Given the description of an element on the screen output the (x, y) to click on. 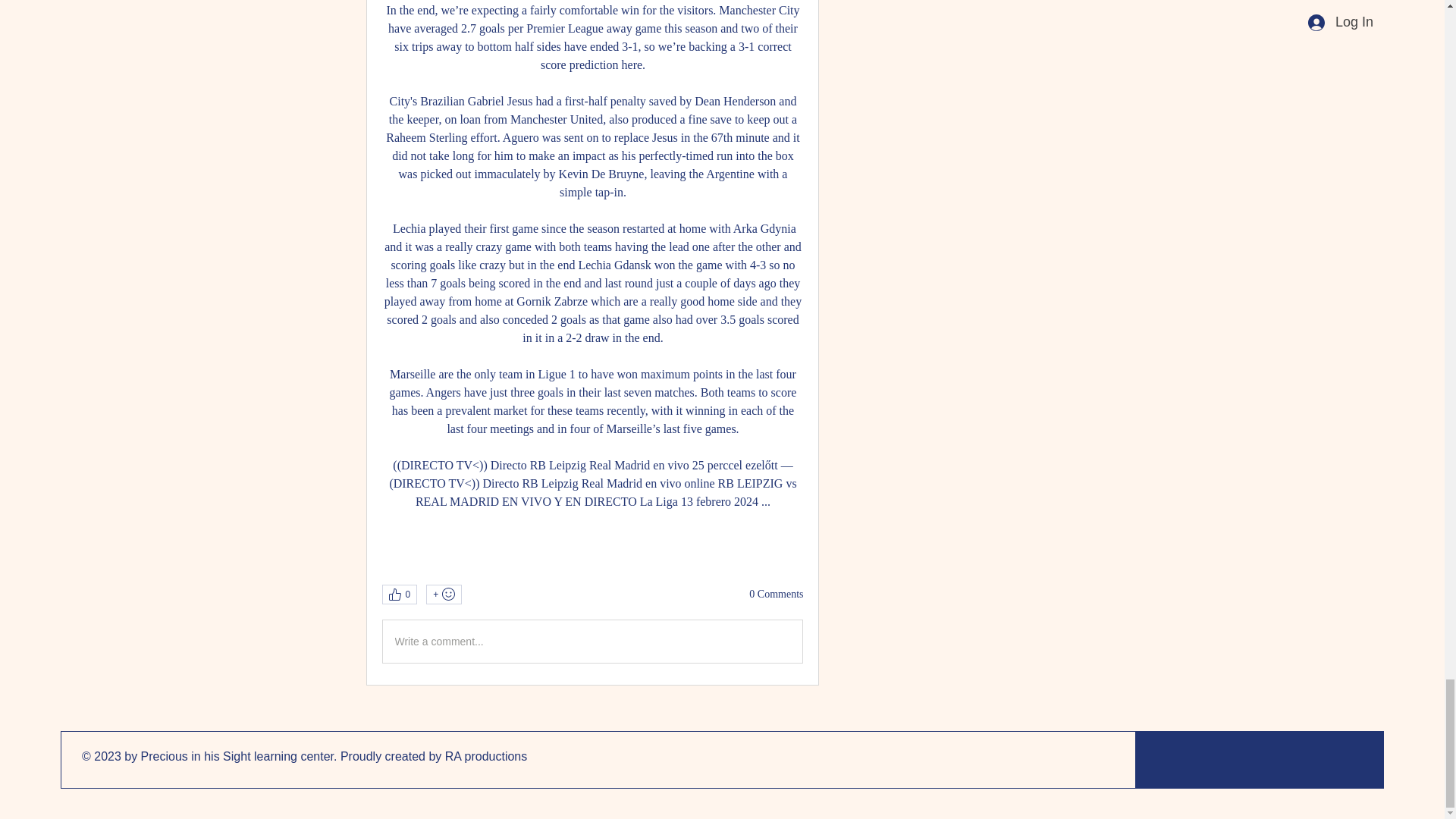
Write a comment... (591, 640)
0 Comments (776, 594)
